Given the description of an element on the screen output the (x, y) to click on. 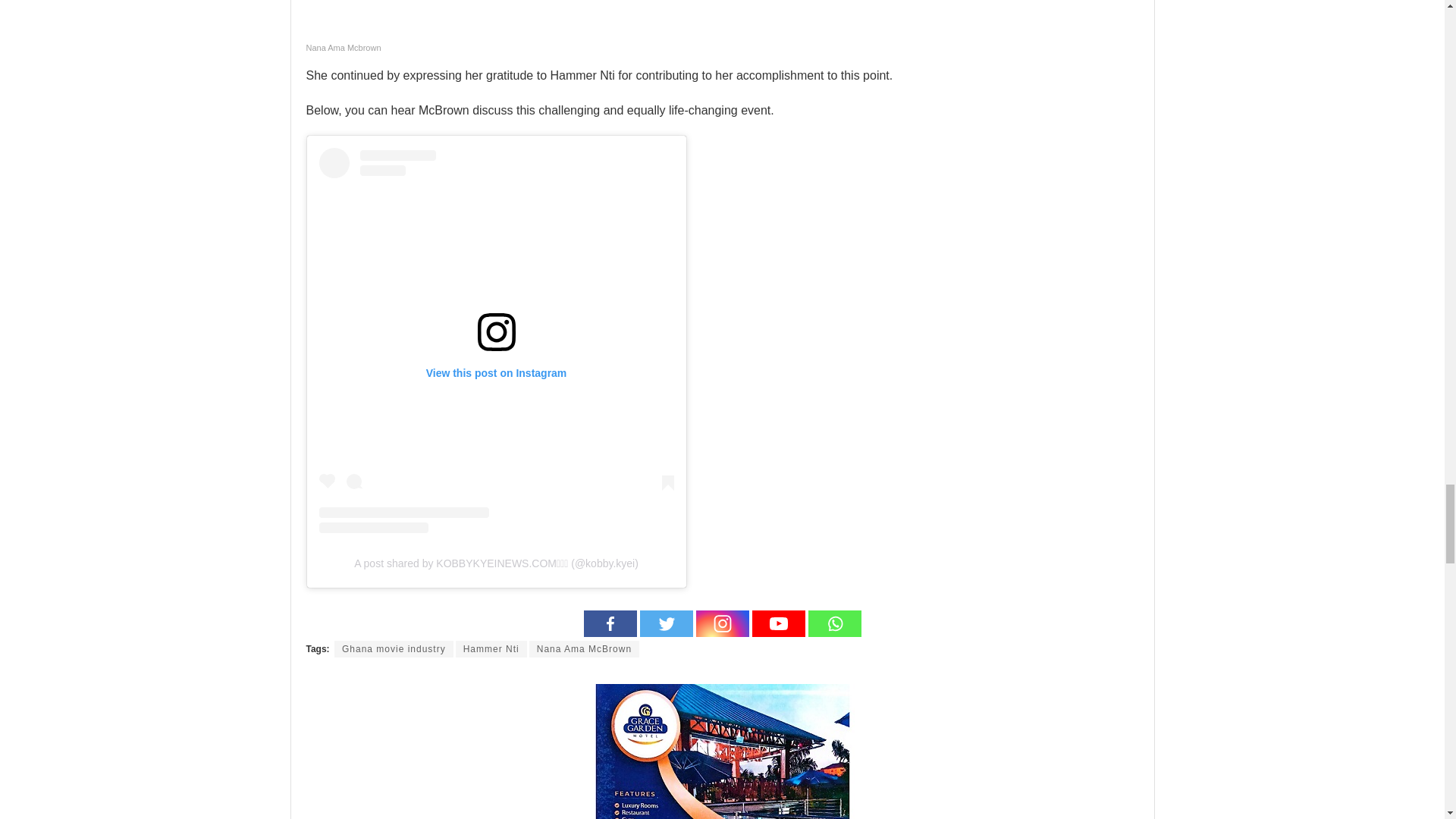
Twitter (666, 623)
Instagram (722, 623)
Youtube (778, 623)
Whatsapp (834, 623)
Facebook (610, 623)
